Given the description of an element on the screen output the (x, y) to click on. 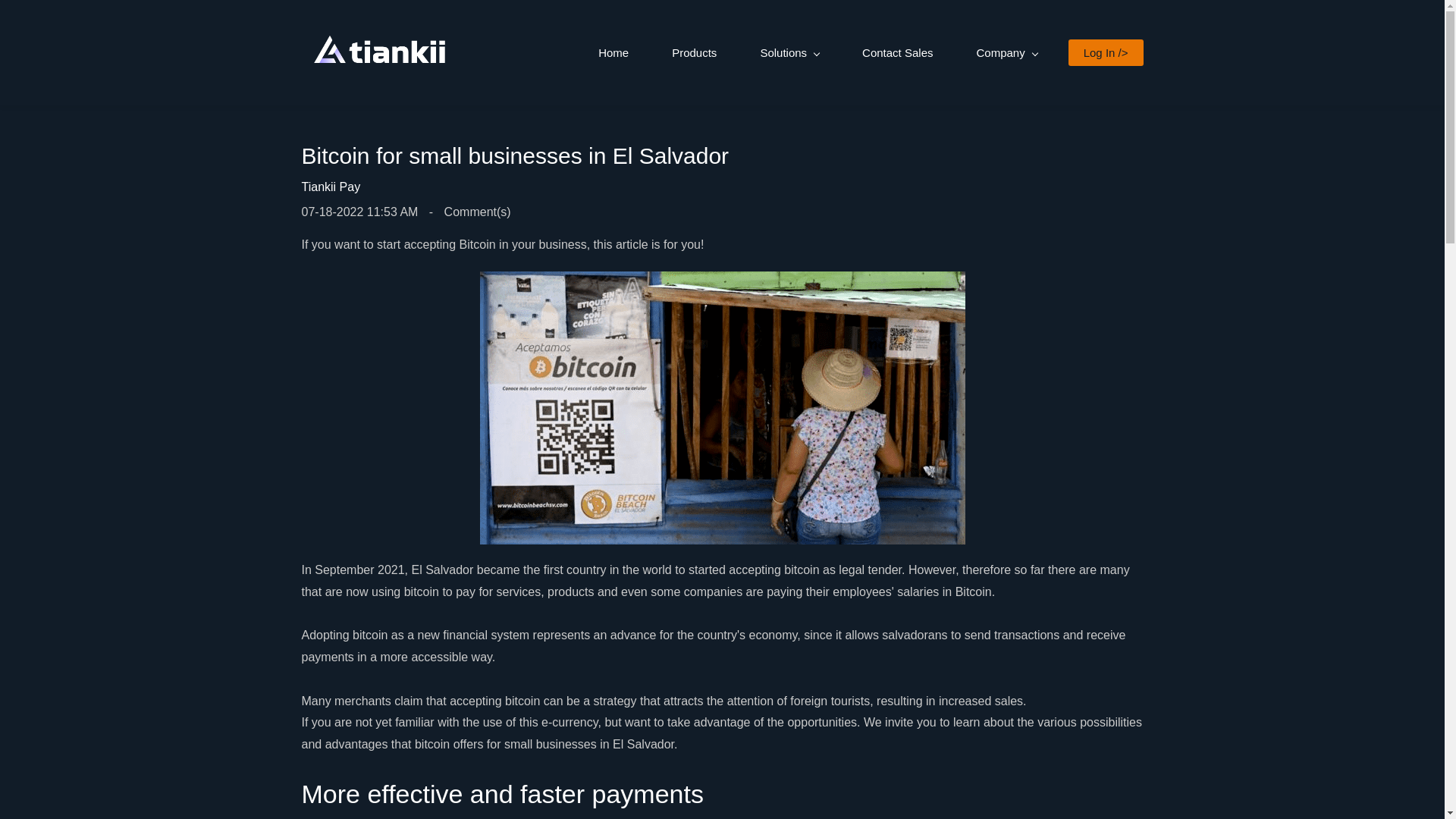
Solutions (789, 52)
Home (613, 52)
Company (1005, 52)
Posts by Tiankii Pay (331, 186)
Home (613, 52)
Products (694, 52)
Contact Sales (897, 52)
Company (1005, 52)
Solutions (789, 52)
Logo (379, 52)
